Given the description of an element on the screen output the (x, y) to click on. 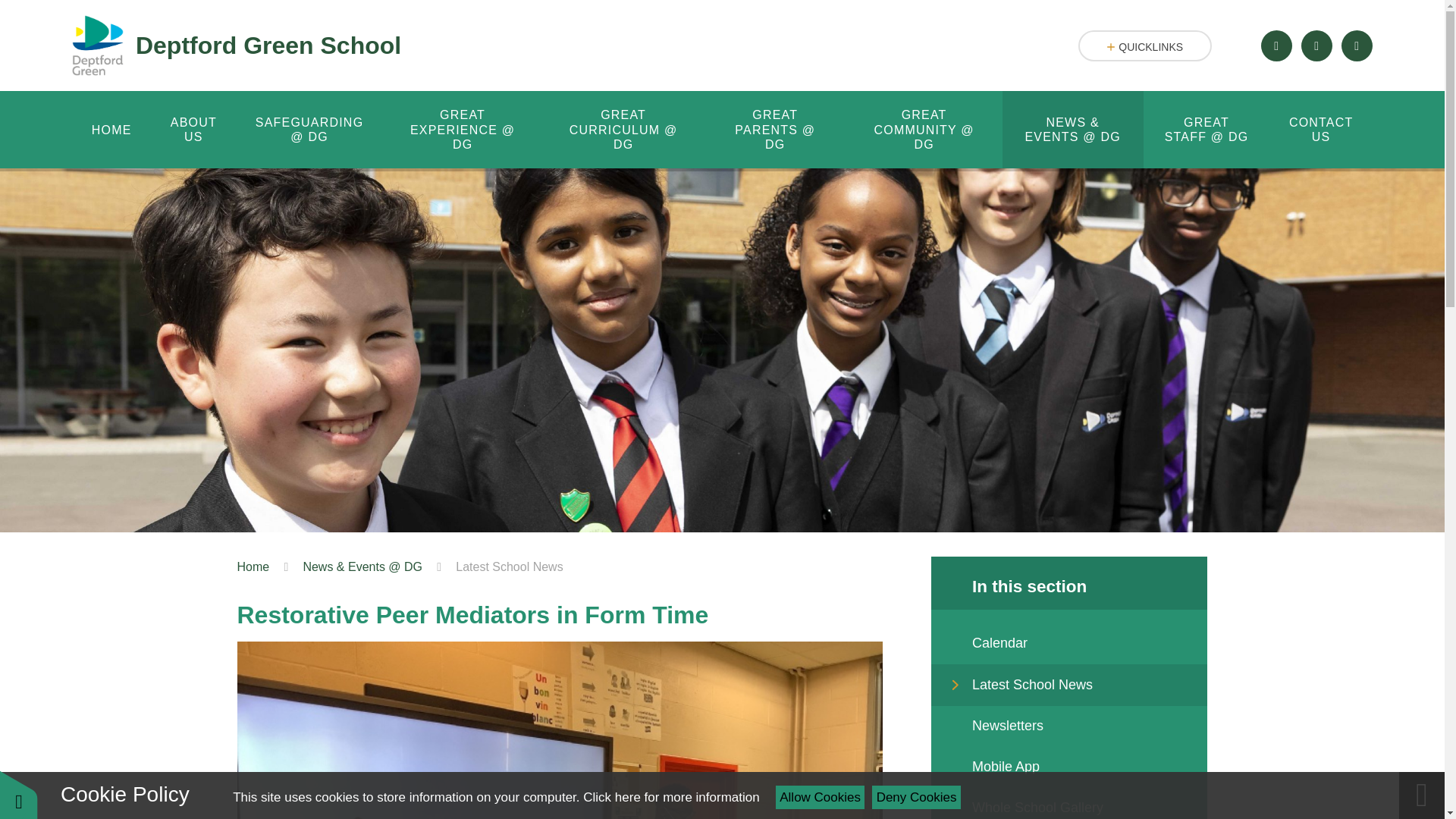
HOME (111, 129)
Allow Cookies (820, 797)
Deptford Green School (236, 45)
ABOUT US (193, 129)
See cookie policy (670, 797)
Deny Cookies (915, 797)
